Given the description of an element on the screen output the (x, y) to click on. 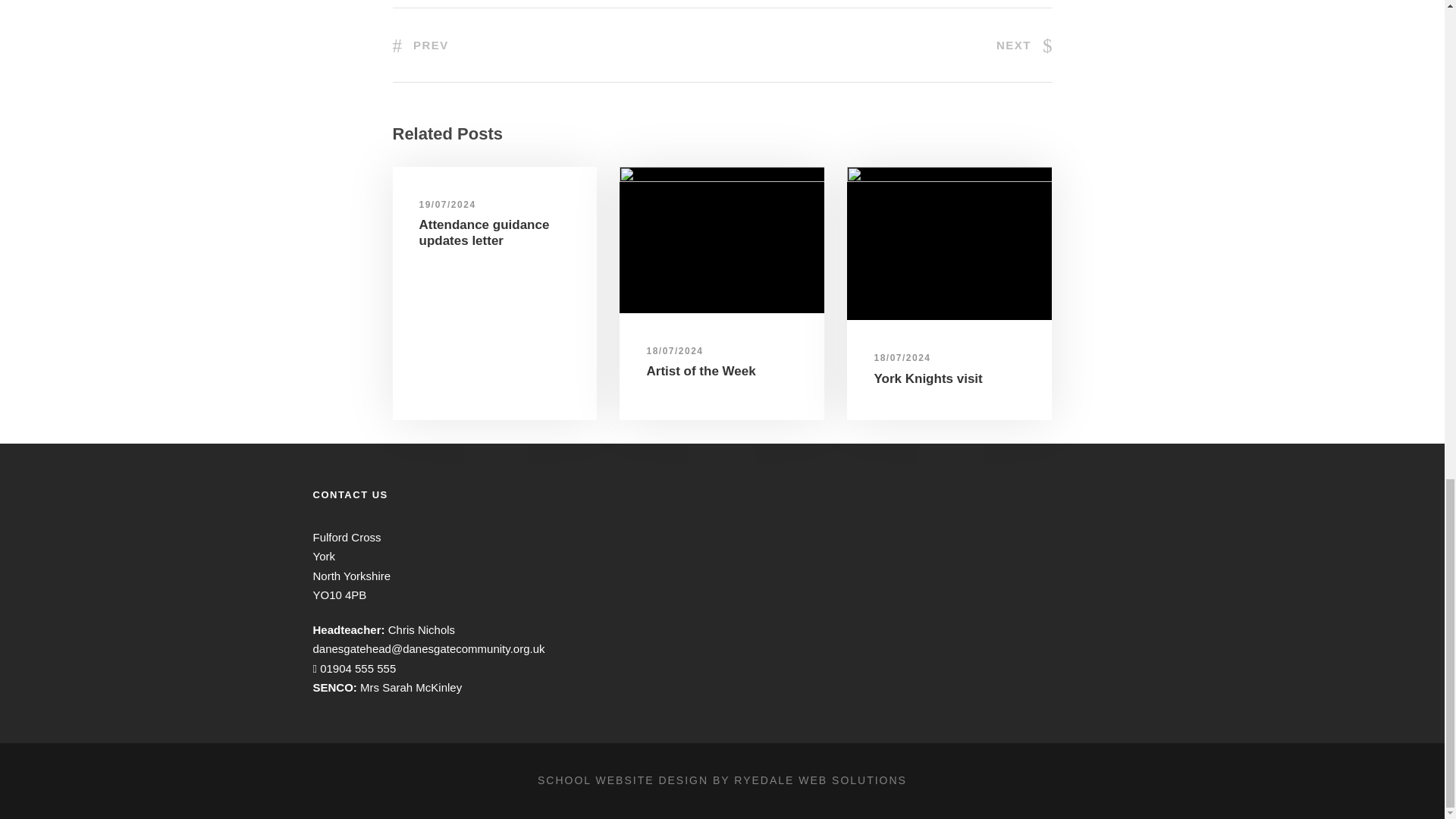
image006 (949, 243)
Picture 1 (722, 239)
